Given the description of an element on the screen output the (x, y) to click on. 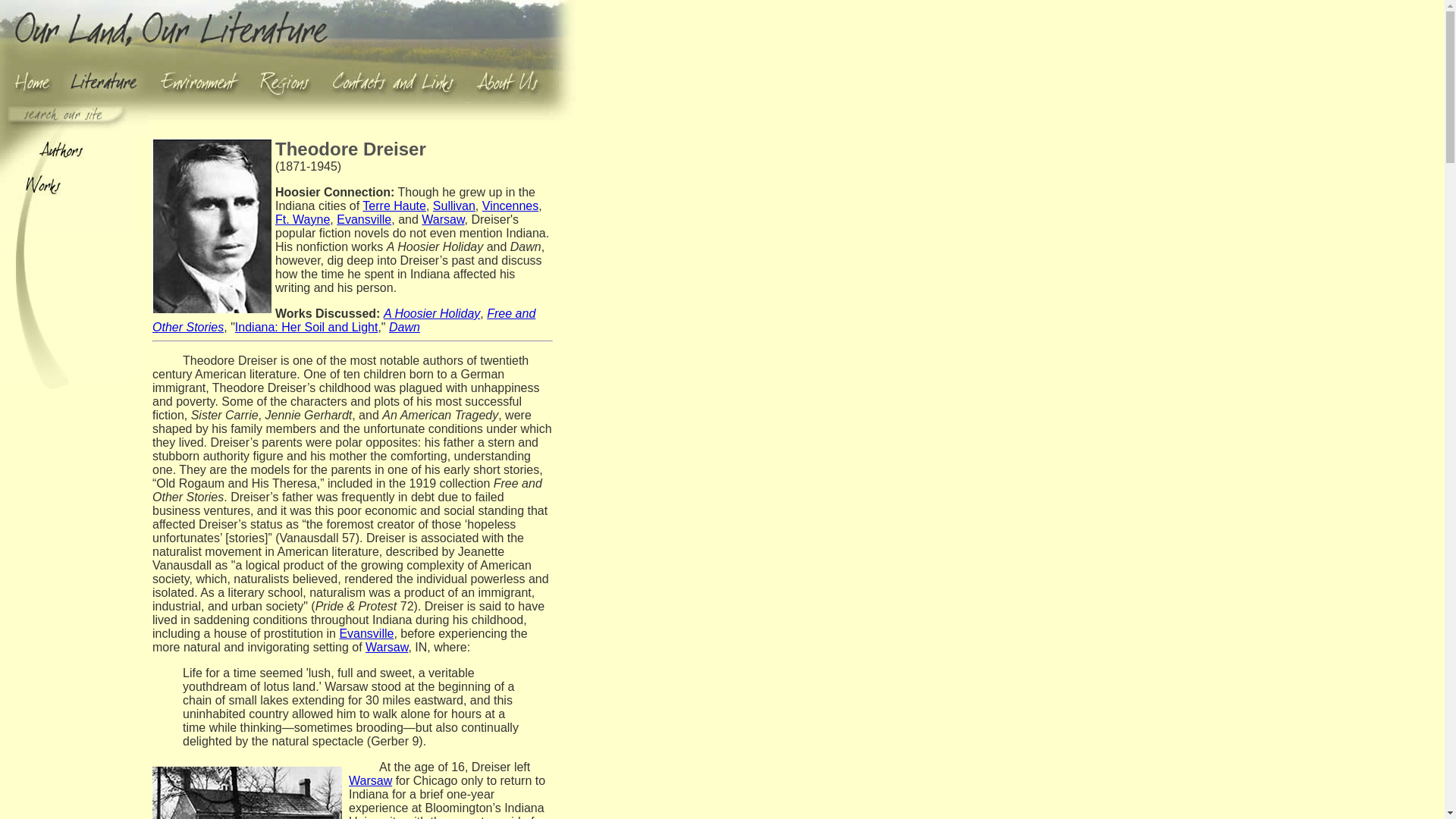
Evansville (363, 219)
Terre Haute (394, 205)
Warsaw (370, 780)
Vincennes (509, 205)
Sullivan (454, 205)
Indiana: Her Soil and Light (306, 327)
Warsaw (443, 219)
Dawn (404, 327)
Warsaw (386, 646)
A Hoosier Holiday (432, 313)
Free and Other Stories (343, 320)
Ft. Wayne (302, 219)
Evansville (366, 633)
notice (337, 127)
